Given the description of an element on the screen output the (x, y) to click on. 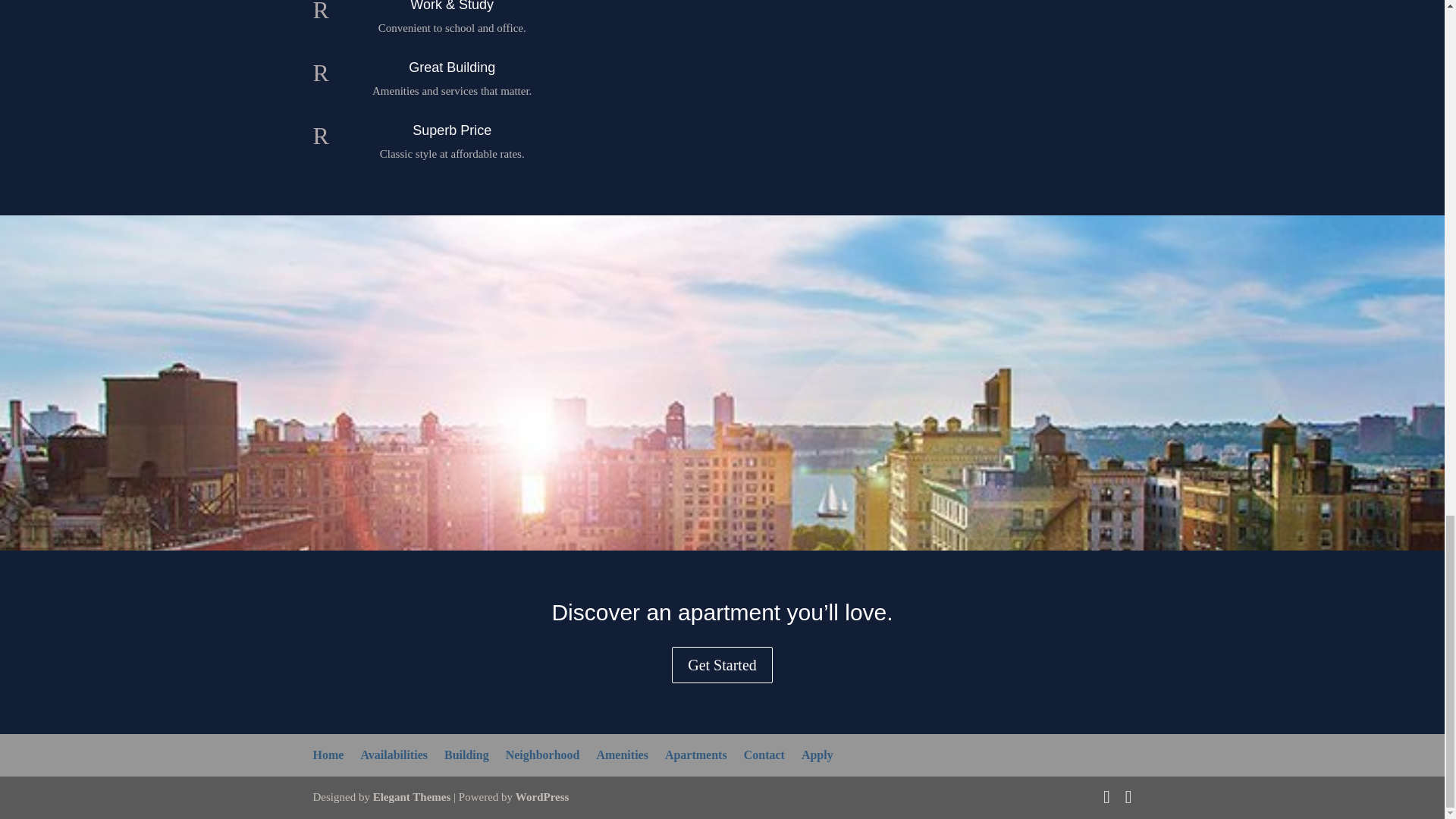
Premium WordPress Themes (411, 797)
